Given the description of an element on the screen output the (x, y) to click on. 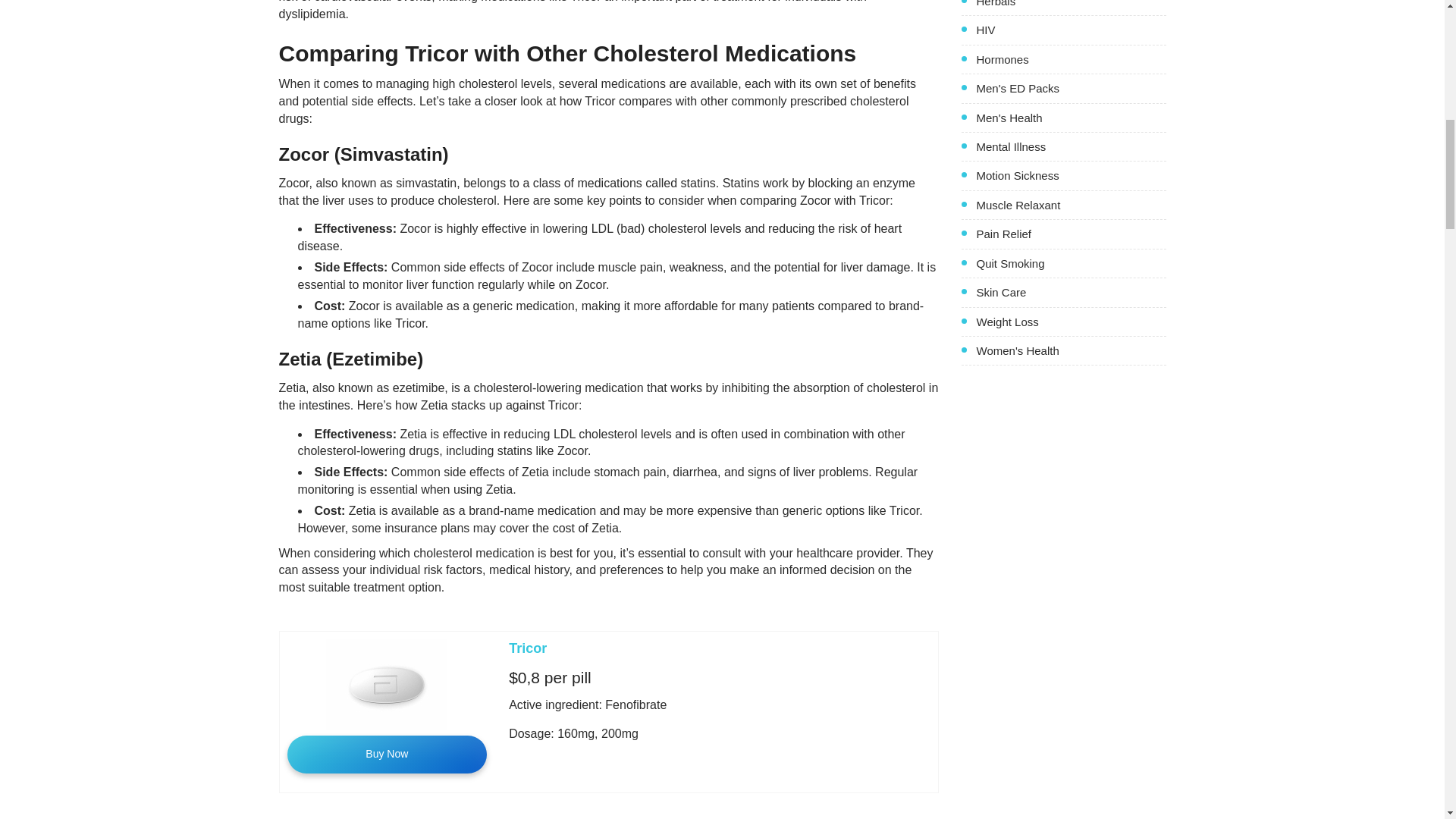
Tricor (527, 648)
Tricor (527, 648)
Buy Now (386, 754)
Buy Now (386, 754)
